Given the description of an element on the screen output the (x, y) to click on. 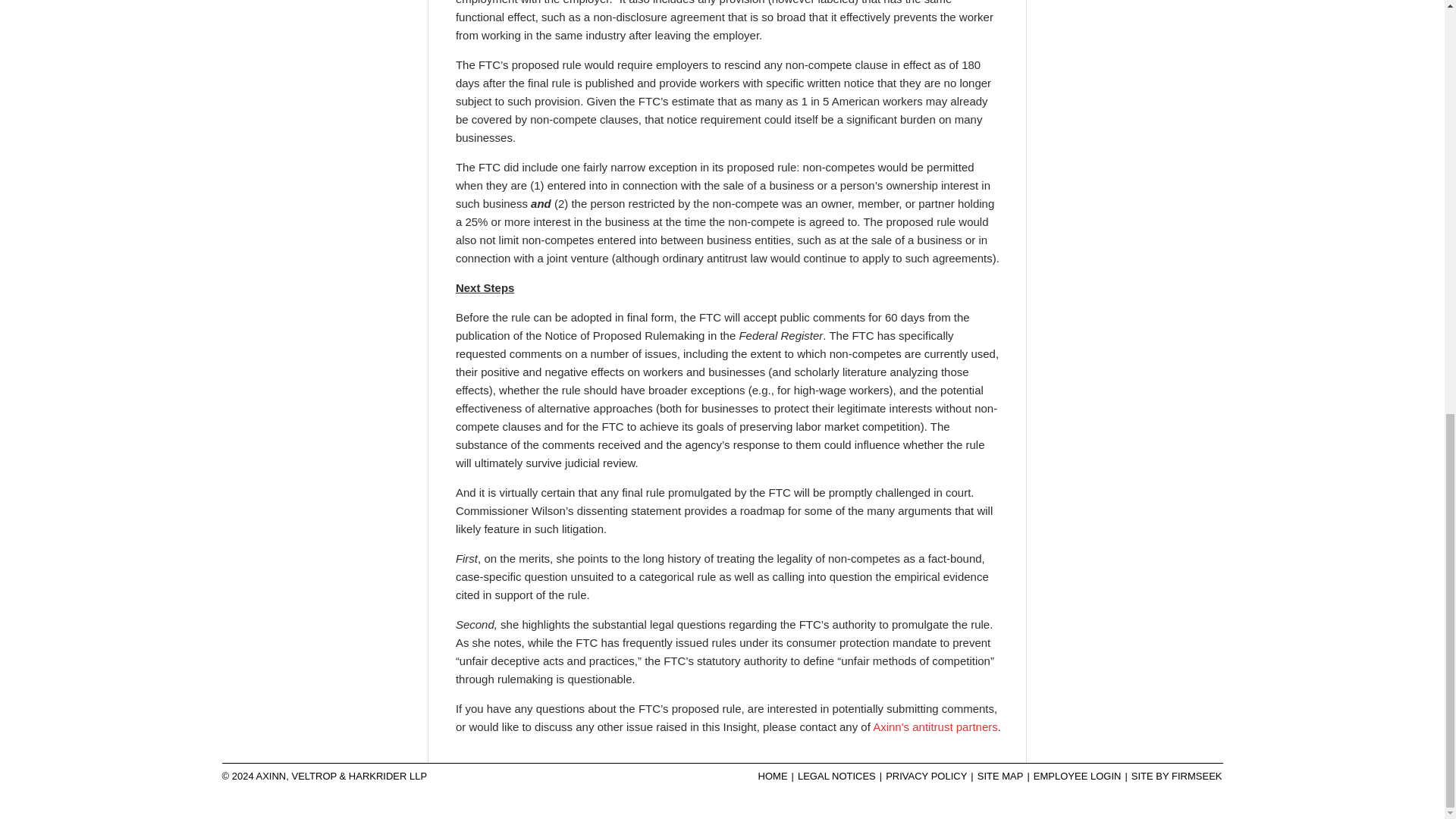
HOME (773, 776)
PRIVACY POLICY (926, 776)
LEGAL NOTICES (836, 776)
Axinn's antitrust partners (934, 726)
